Given the description of an element on the screen output the (x, y) to click on. 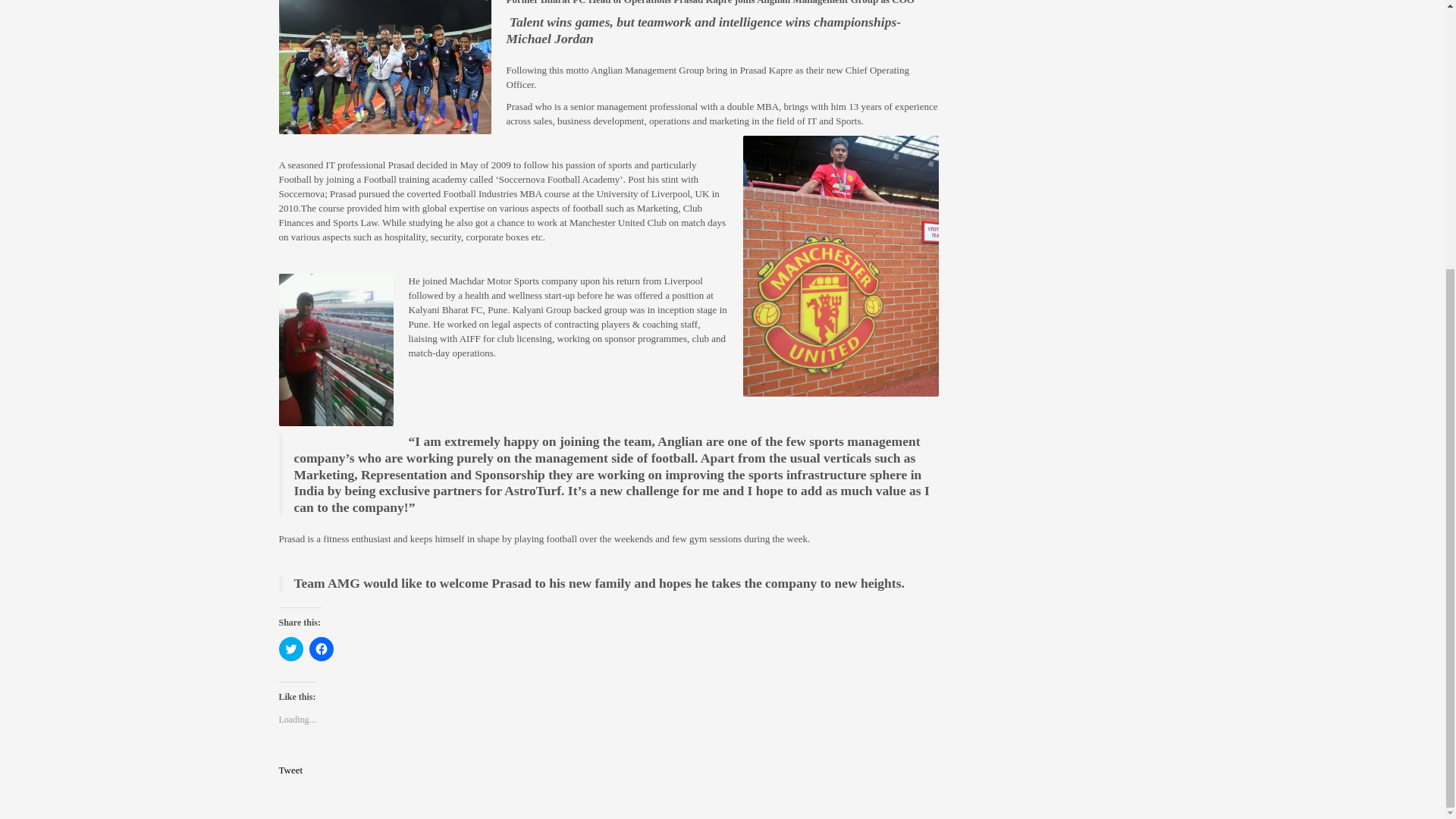
Tweet (290, 769)
Click to share on Twitter (290, 648)
Click to share on Facebook (320, 648)
